Given the description of an element on the screen output the (x, y) to click on. 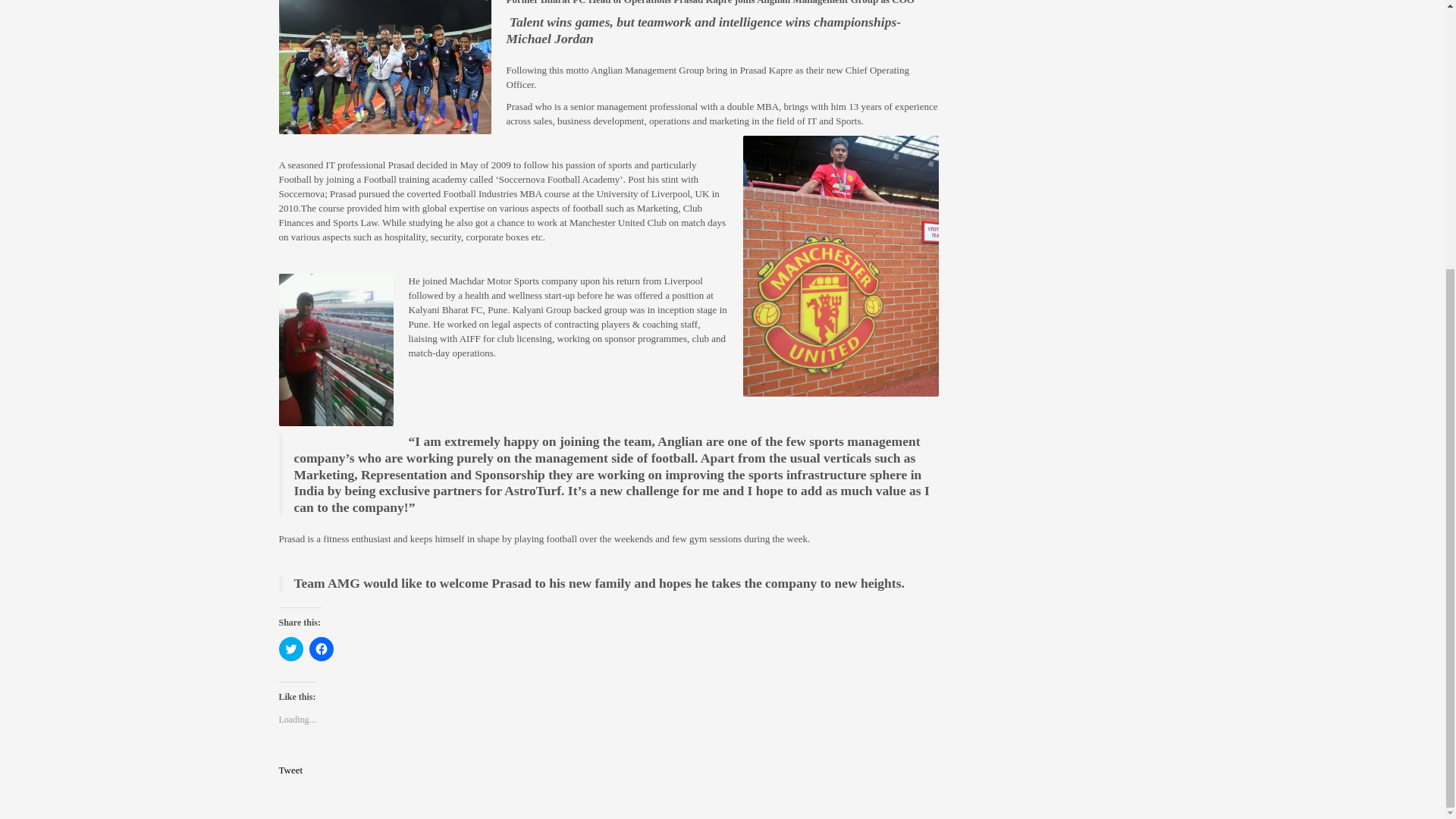
Tweet (290, 769)
Click to share on Twitter (290, 648)
Click to share on Facebook (320, 648)
